Given the description of an element on the screen output the (x, y) to click on. 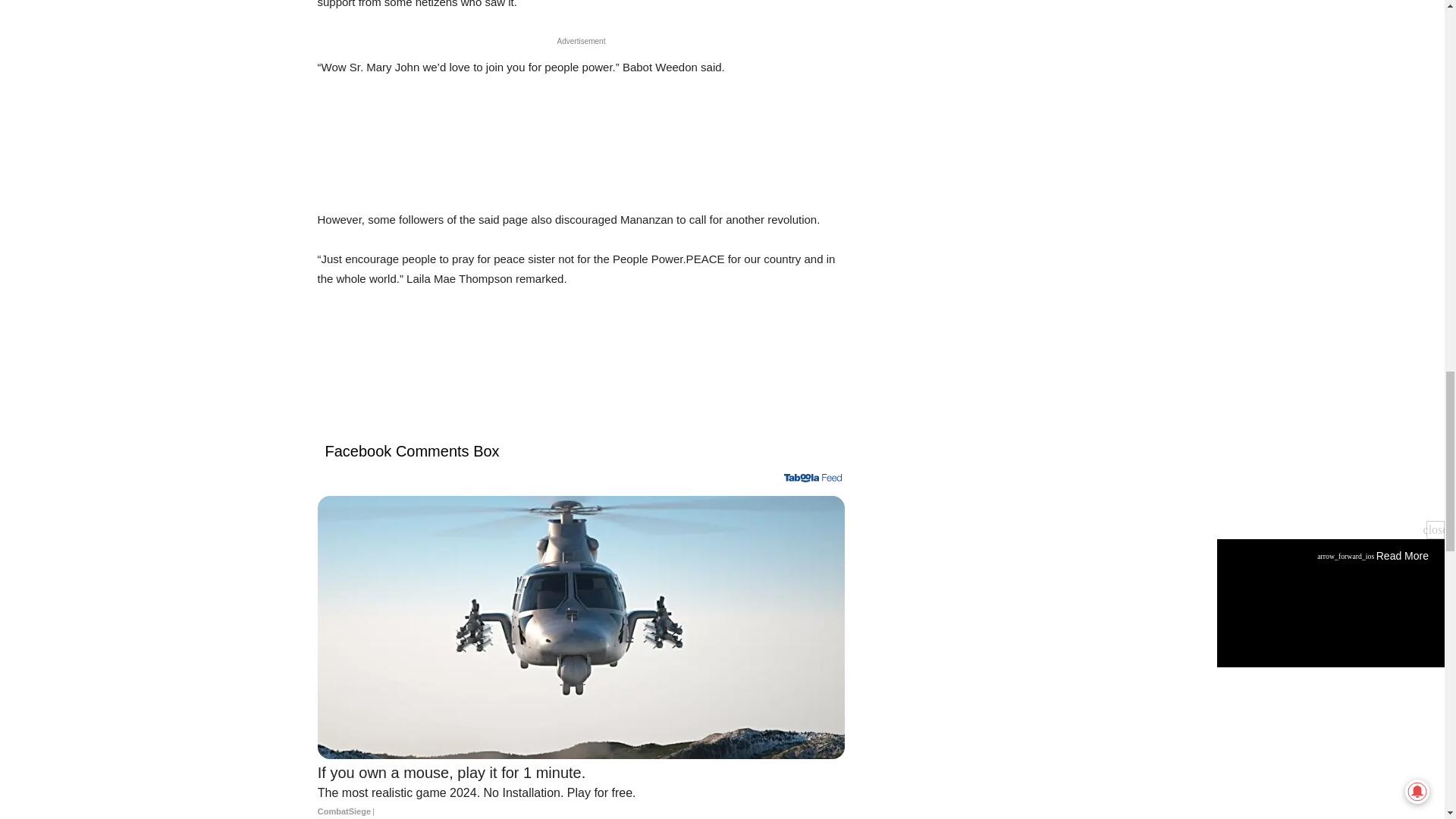
If you own a mouse, play it for 1 minute. (581, 790)
